Given the description of an element on the screen output the (x, y) to click on. 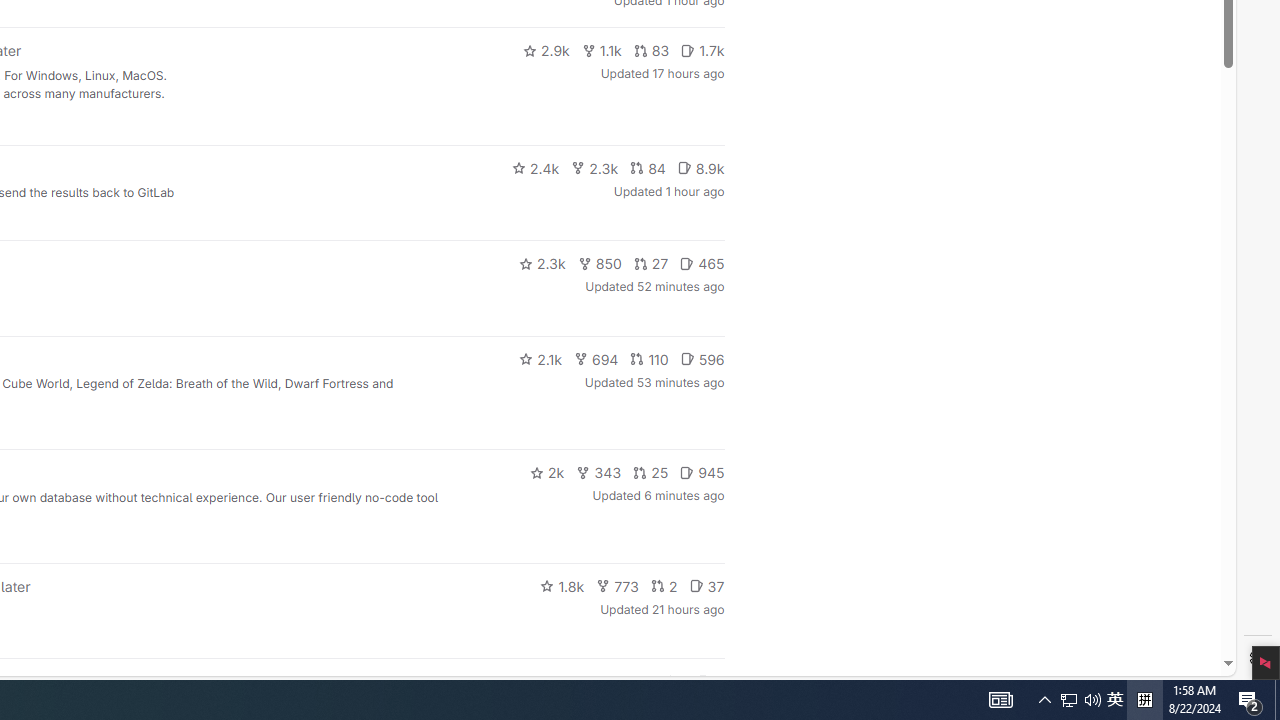
Class: s14 gl-mr-2 (704, 681)
1.7k (702, 50)
2.1k (539, 358)
37 (706, 585)
694 (596, 358)
110 (649, 358)
6 (710, 681)
84 (647, 167)
2.3k (541, 263)
1.4k (573, 681)
465 (701, 263)
27 (651, 263)
25 (651, 472)
2 (664, 585)
2.4k (535, 167)
